Given the description of an element on the screen output the (x, y) to click on. 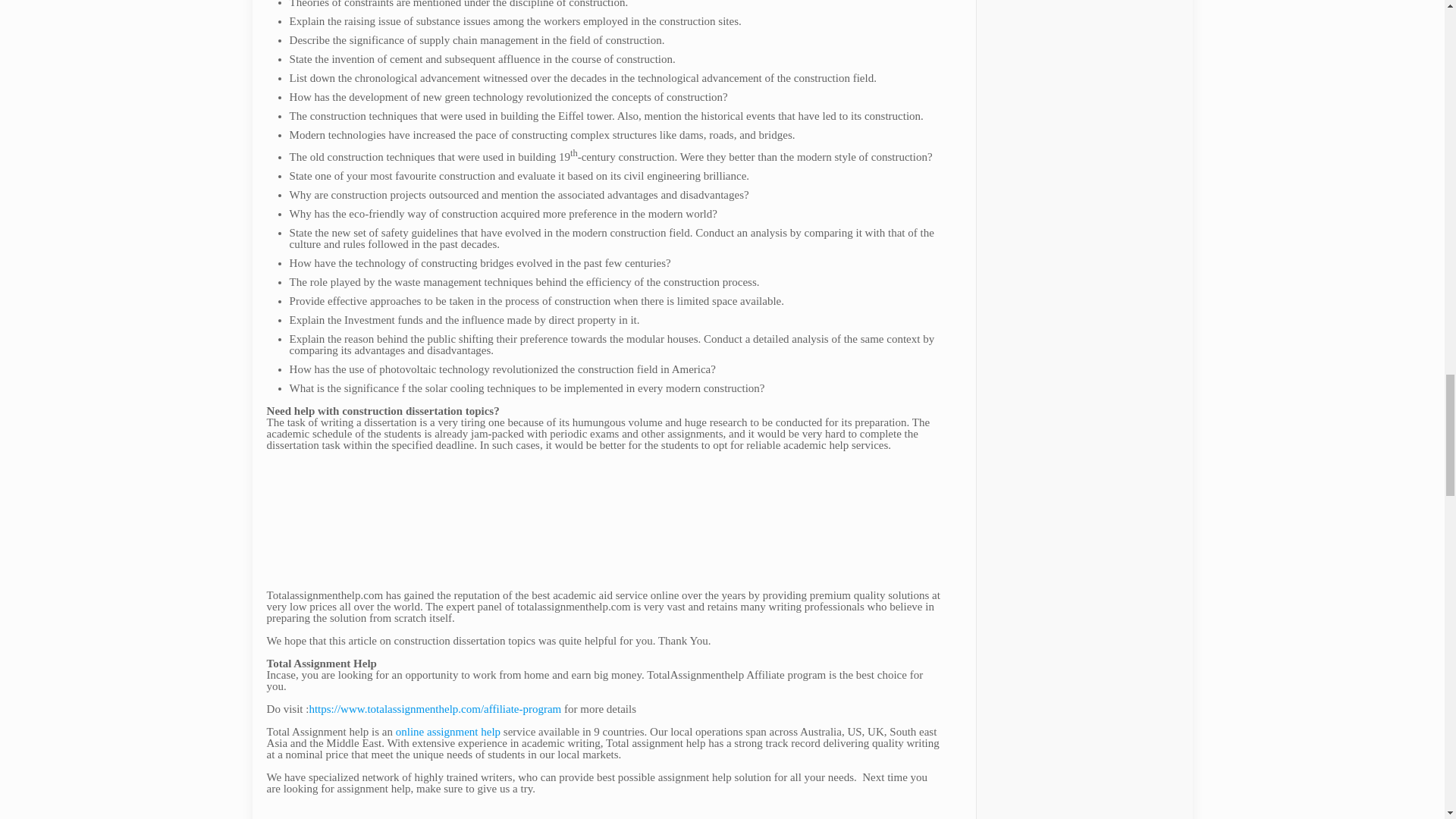
online assignment help (448, 731)
